Given the description of an element on the screen output the (x, y) to click on. 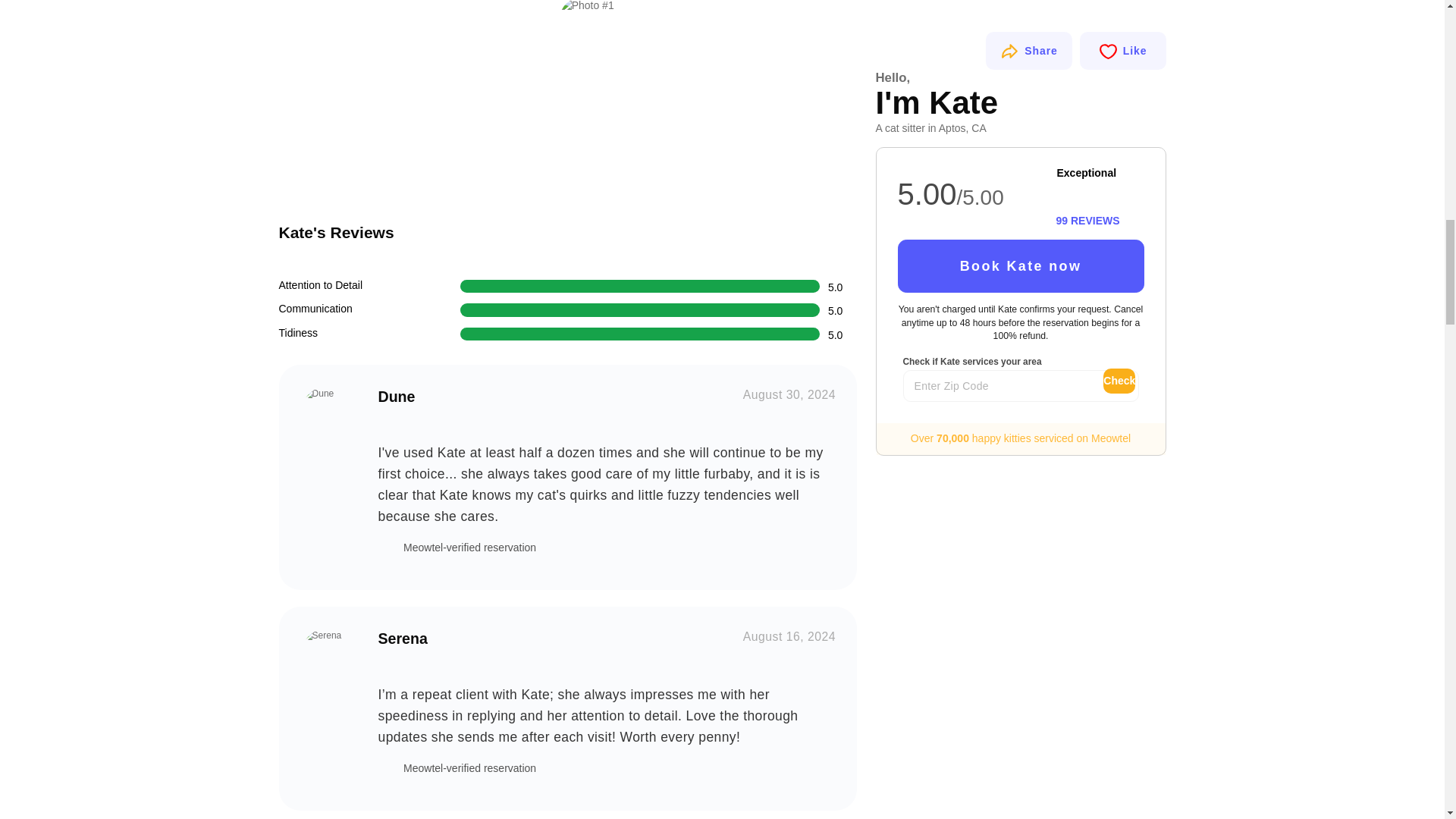
Serena (327, 656)
Photo (415, 103)
Dune (327, 414)
